Given the description of an element on the screen output the (x, y) to click on. 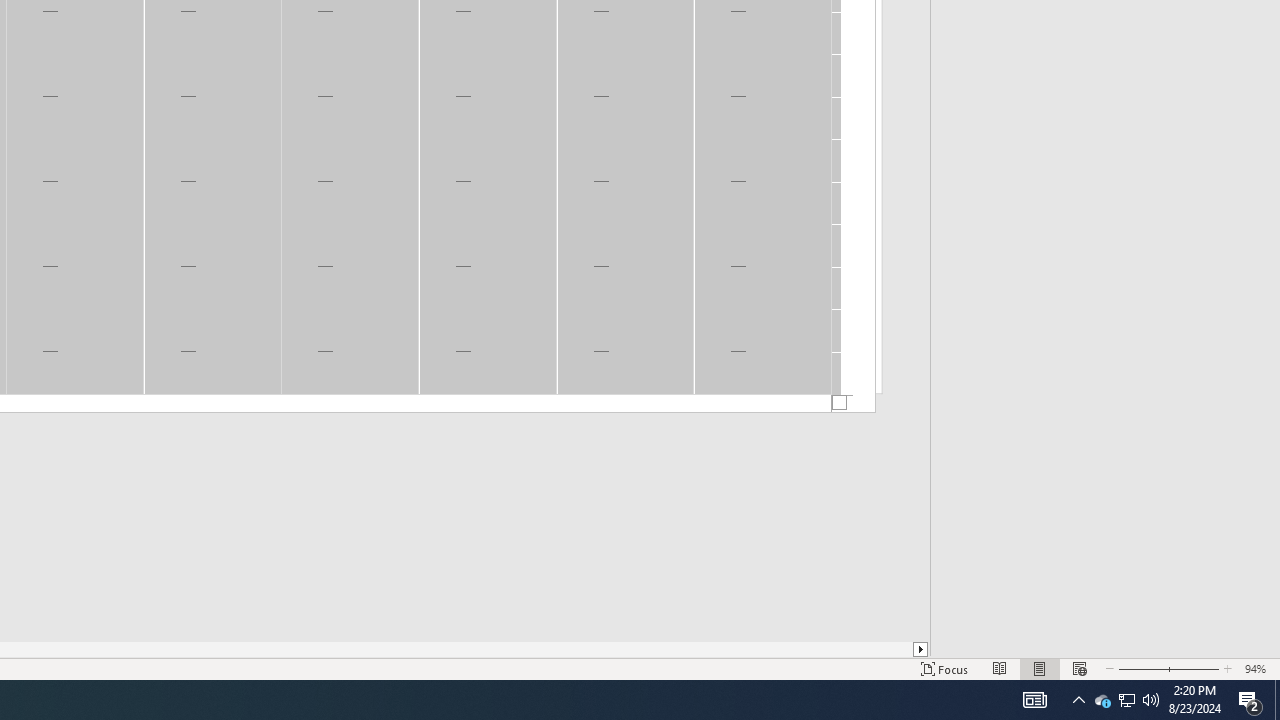
Column right (921, 649)
